Given the description of an element on the screen output the (x, y) to click on. 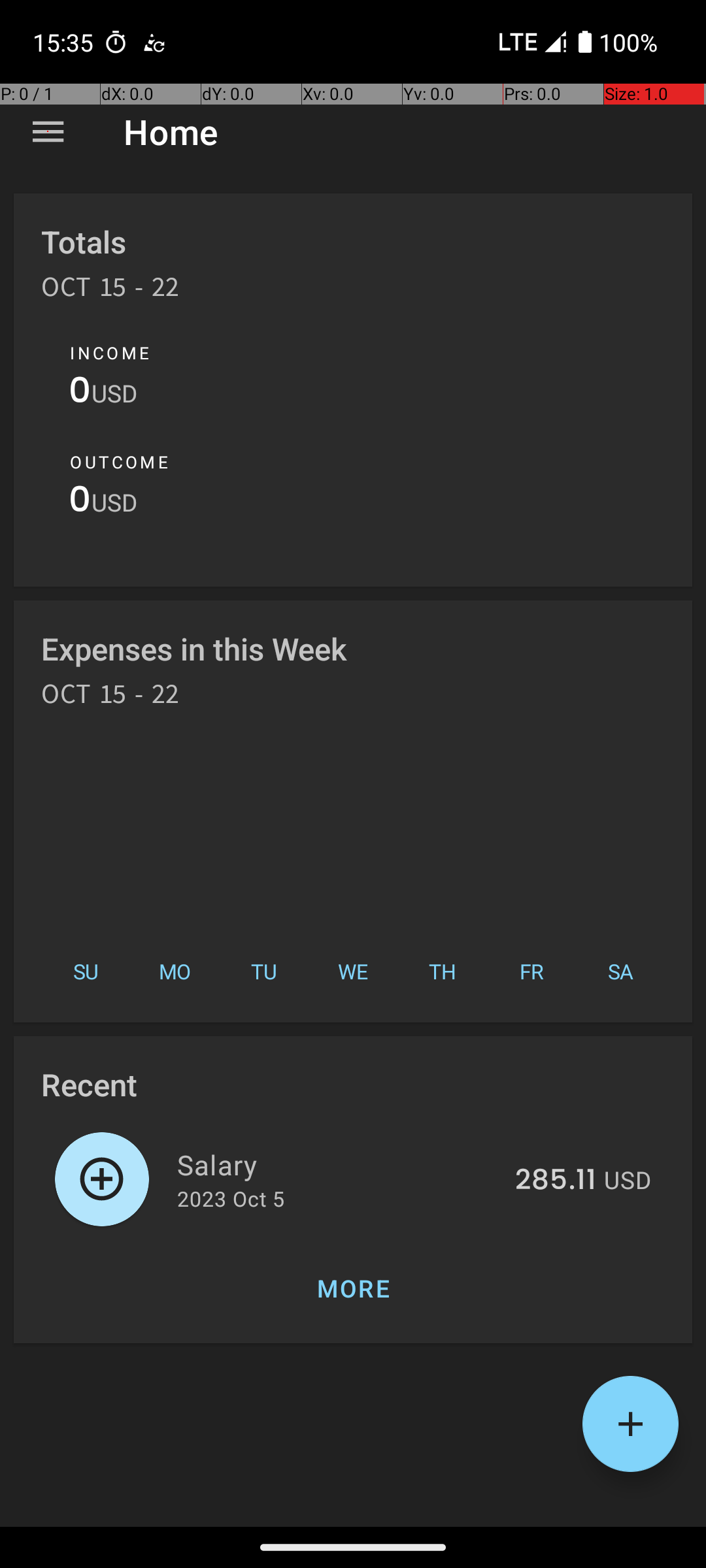
Salary Element type: android.widget.TextView (338, 1164)
2023 Oct 5 Element type: android.widget.TextView (230, 1198)
285.11 Element type: android.widget.TextView (555, 1180)
